Given the description of an element on the screen output the (x, y) to click on. 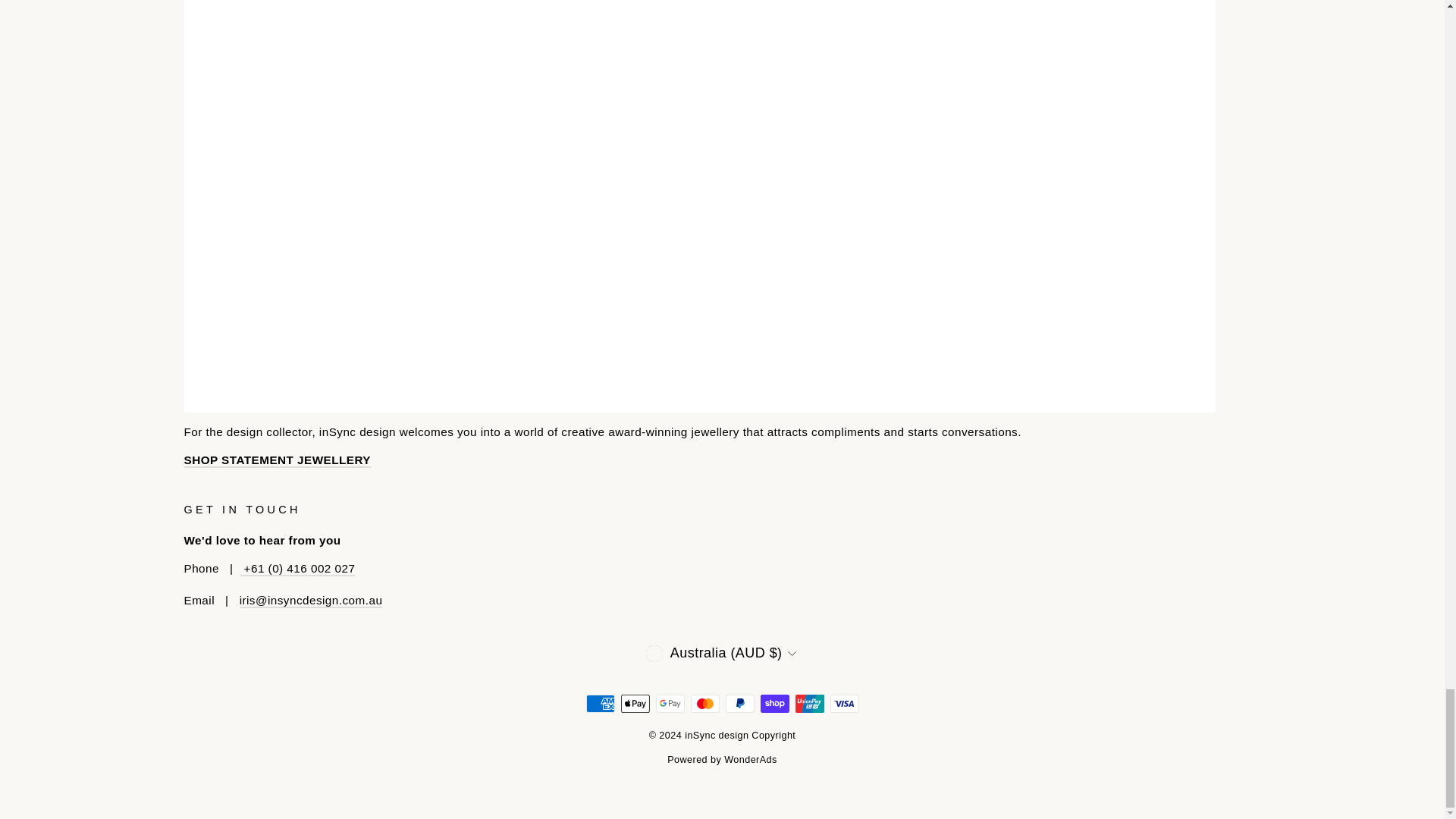
American Express (599, 703)
Apple Pay (634, 703)
Google Pay (669, 703)
Mastercard (704, 703)
